Given the description of an element on the screen output the (x, y) to click on. 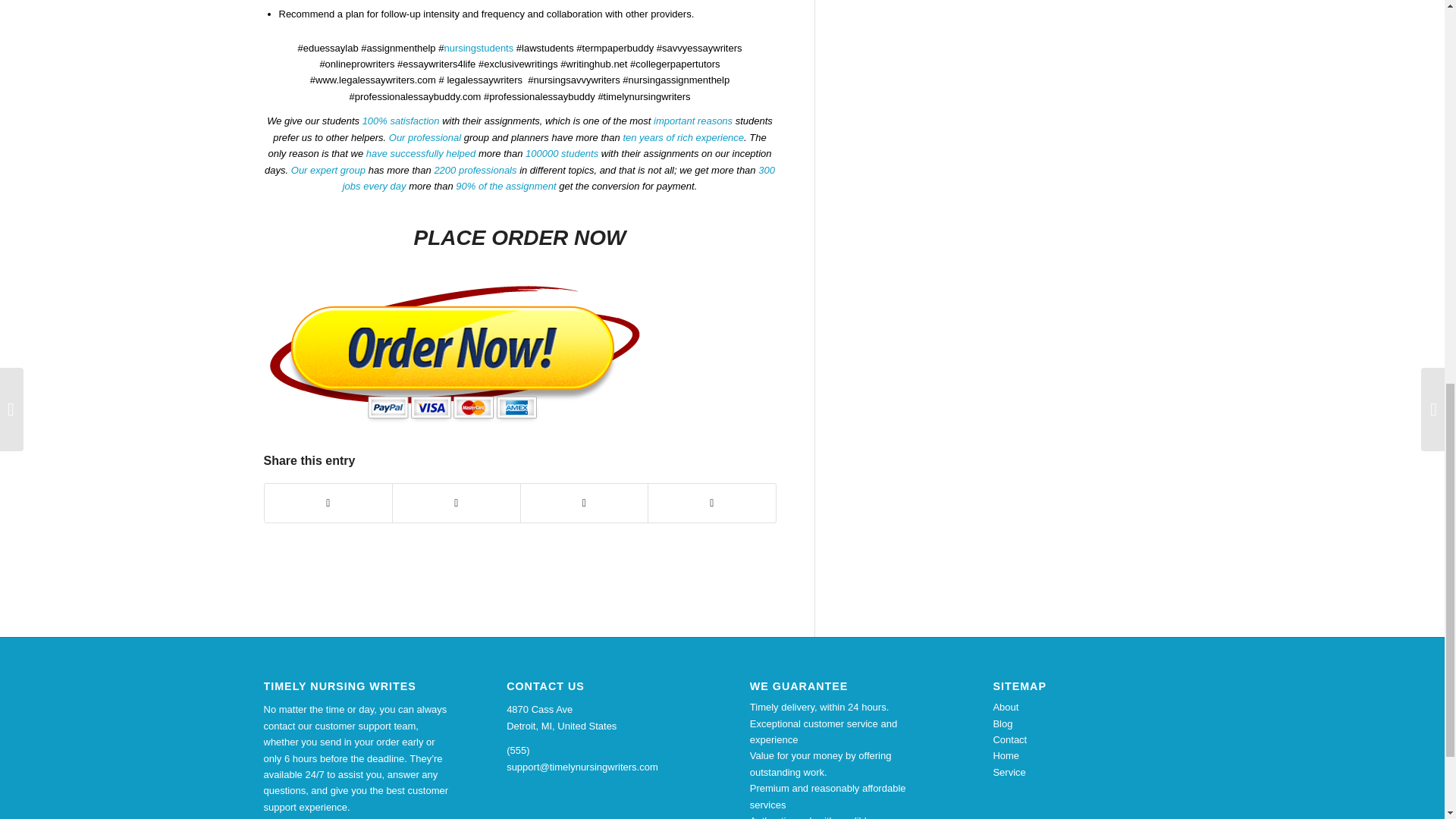
nursingstudents (478, 48)
300 jobs every day (558, 177)
2200 professionals (474, 170)
PLACE ORDER NOW (519, 237)
have successfully helped (421, 153)
Our professional (424, 137)
100000 students (561, 153)
important reasons (692, 120)
ten years of rich experience (683, 137)
Our expert group (328, 170)
